Given the description of an element on the screen output the (x, y) to click on. 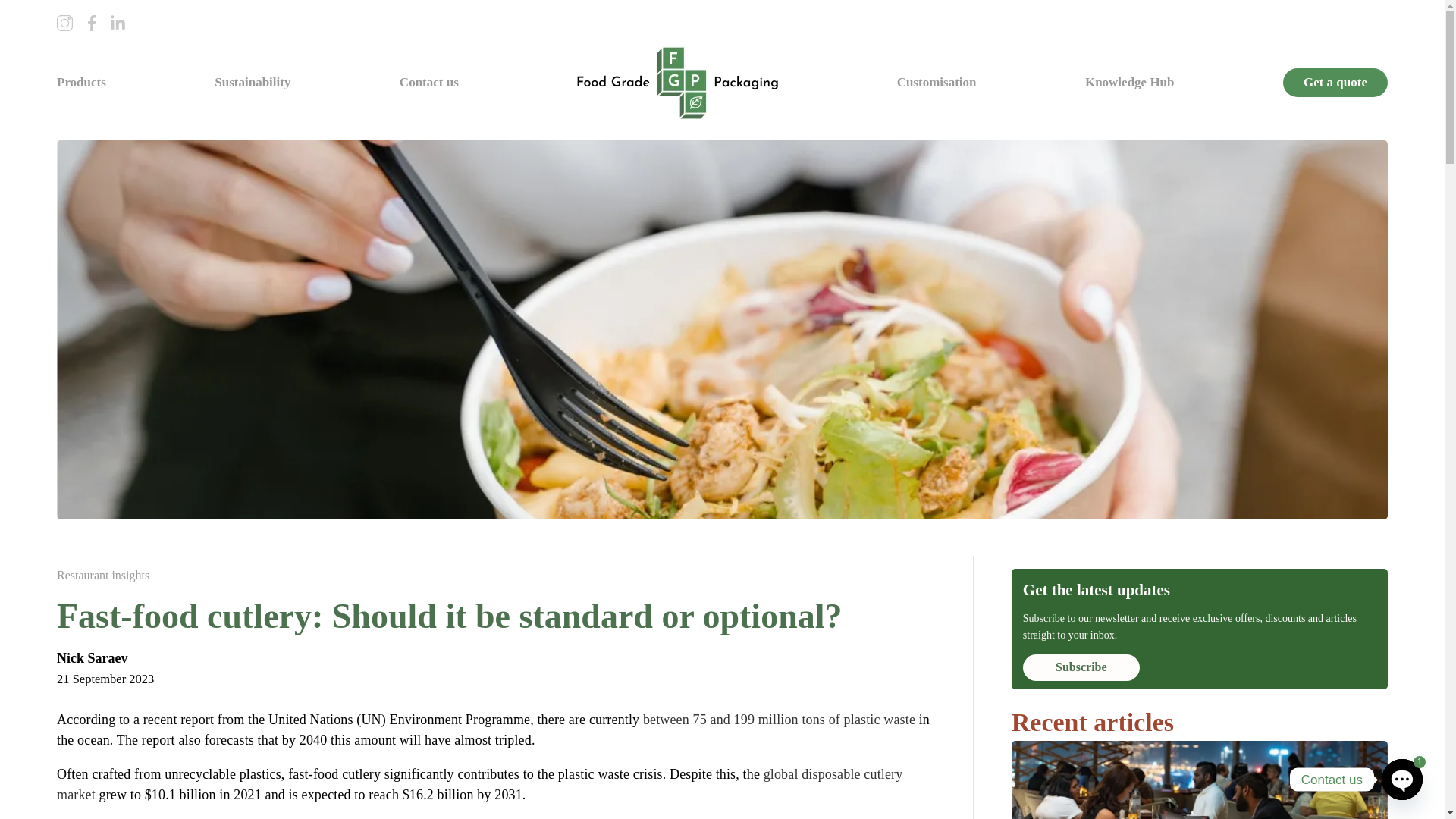
global disposable cutlery market (479, 784)
Knowledge Hub (1129, 82)
Products (81, 82)
Sustainability (251, 82)
between 75 and 199 million tons of plastic waste (779, 719)
Get a quote (1334, 82)
Customisation (936, 82)
Contact us (428, 82)
